Given the description of an element on the screen output the (x, y) to click on. 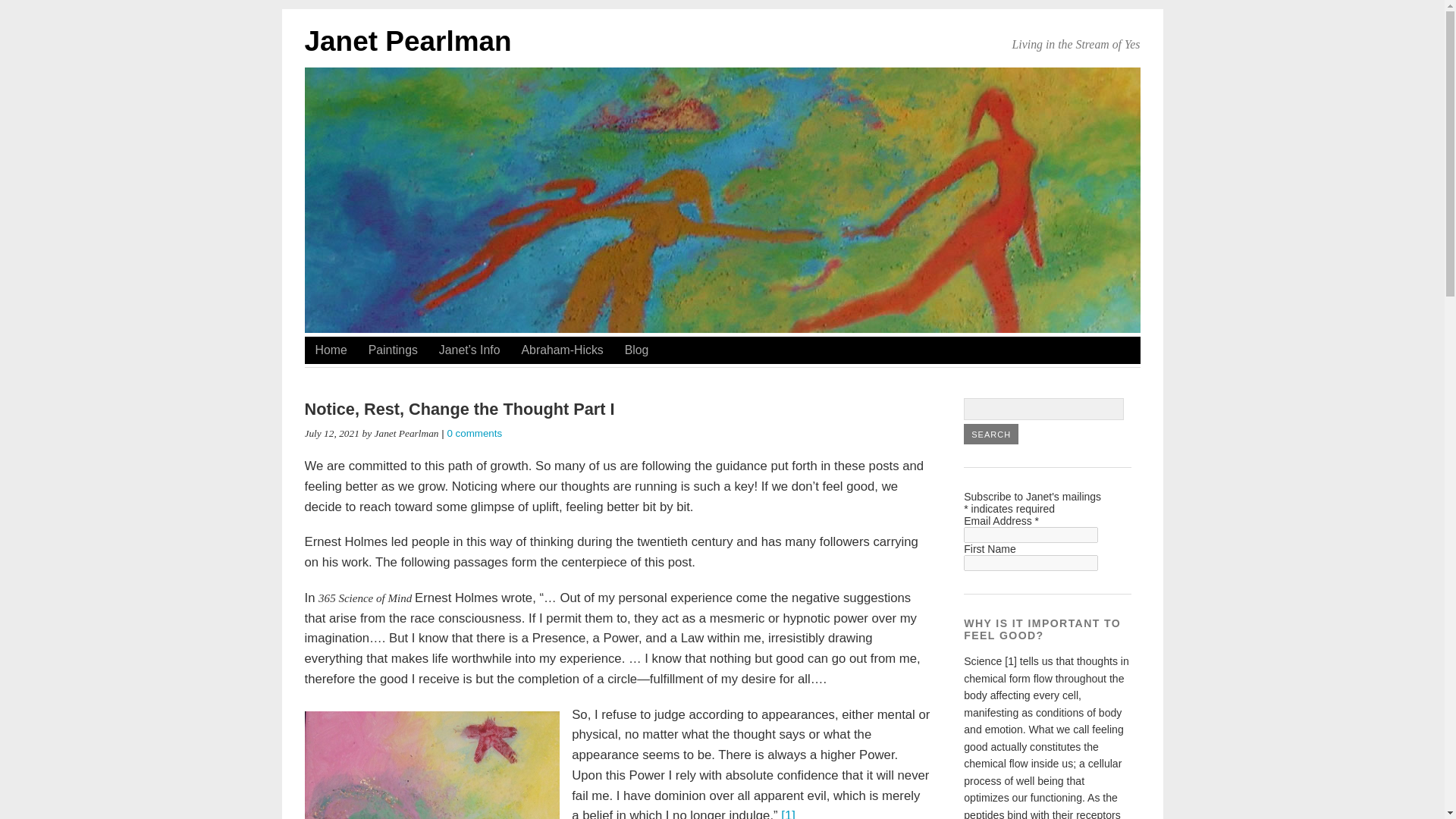
Janet Pearlman (408, 40)
Search (990, 434)
Search (990, 434)
Home (331, 349)
Paintings (393, 349)
Subscribe (991, 578)
Blog (636, 349)
Janet Pearlman (408, 40)
Abraham-Hicks (562, 349)
0 comments (474, 432)
